Given the description of an element on the screen output the (x, y) to click on. 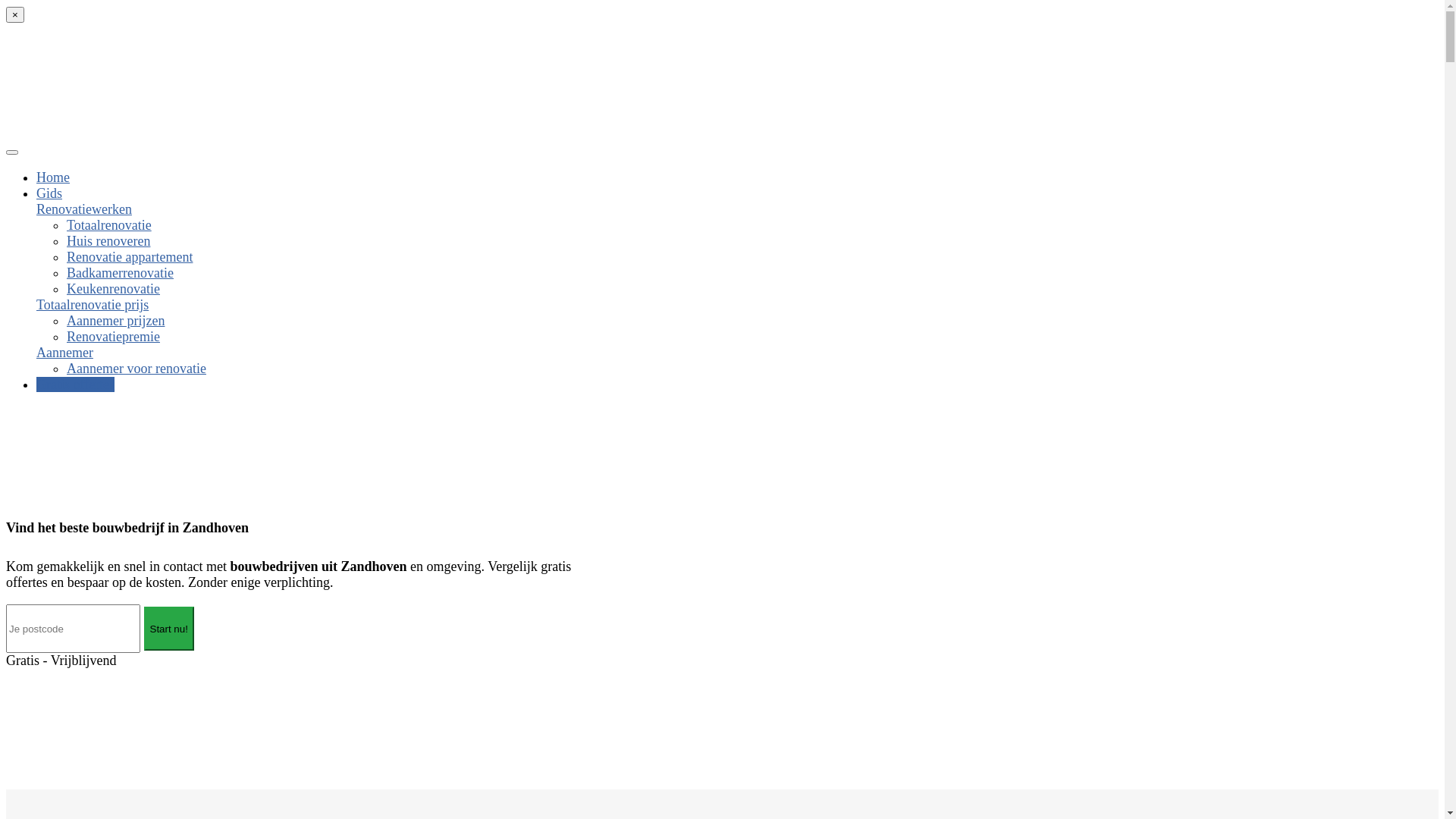
Totaalrenovatie prijs Element type: text (92, 304)
Renovatie appartement Element type: text (129, 256)
Aannemer prijzen Element type: text (115, 320)
Start nu! Element type: text (169, 628)
Renovatiewerken Element type: text (83, 208)
Renovatiepremie Element type: text (113, 336)
Gratis offertes Element type: text (75, 384)
Home Element type: text (52, 177)
Aannemer Element type: text (64, 352)
Bouwbedrijf Gids Element type: hover (119, 131)
Huis renoveren Element type: text (108, 240)
Aannemer voor renovatie Element type: text (136, 368)
Keukenrenovatie Element type: text (113, 288)
Badkamerrenovatie Element type: text (119, 272)
Gids Element type: text (49, 192)
Totaalrenovatie Element type: text (108, 224)
